Given the description of an element on the screen output the (x, y) to click on. 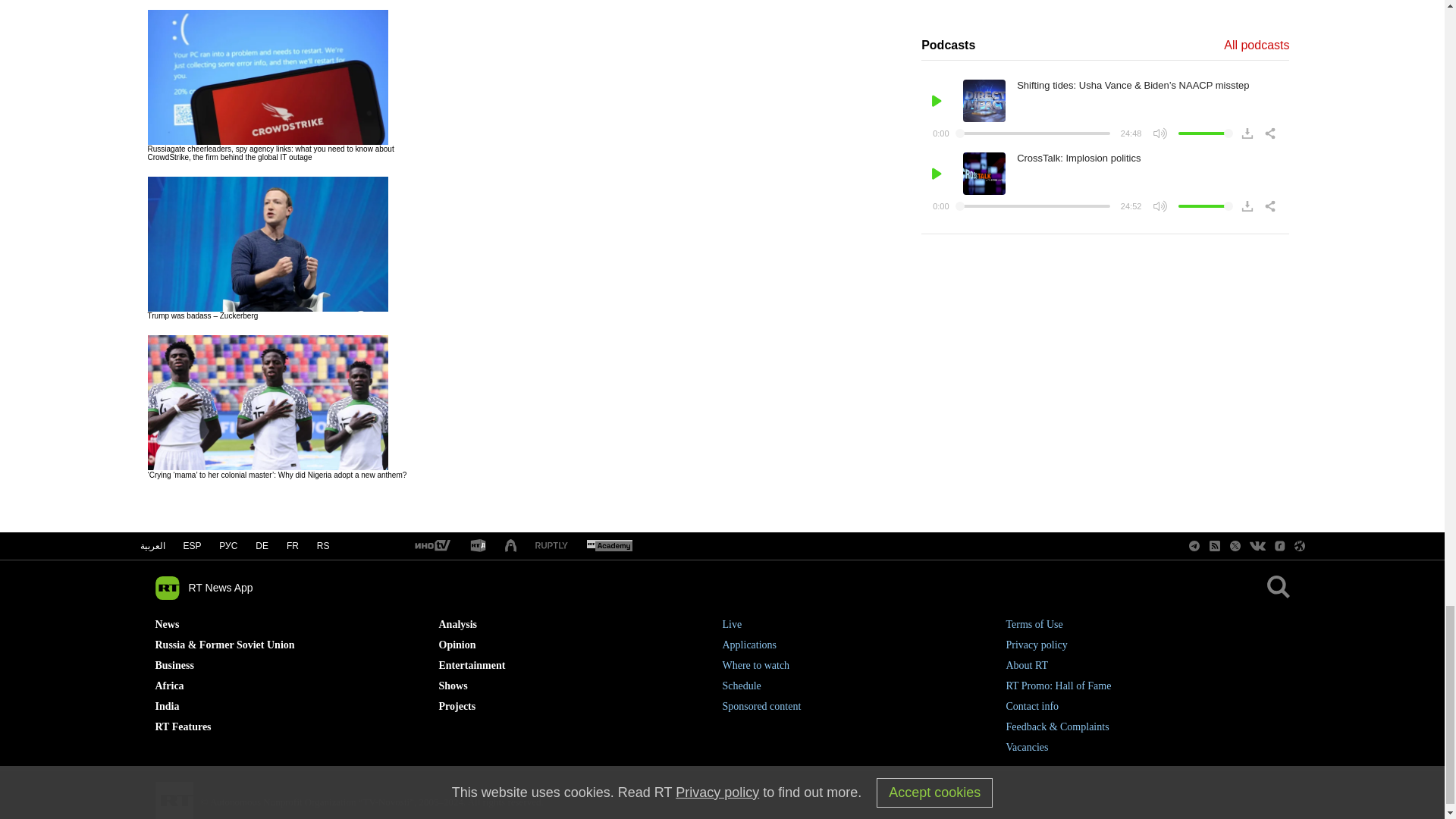
RT  (608, 545)
RT  (478, 545)
RT  (551, 546)
RT  (431, 545)
